Given the description of an element on the screen output the (x, y) to click on. 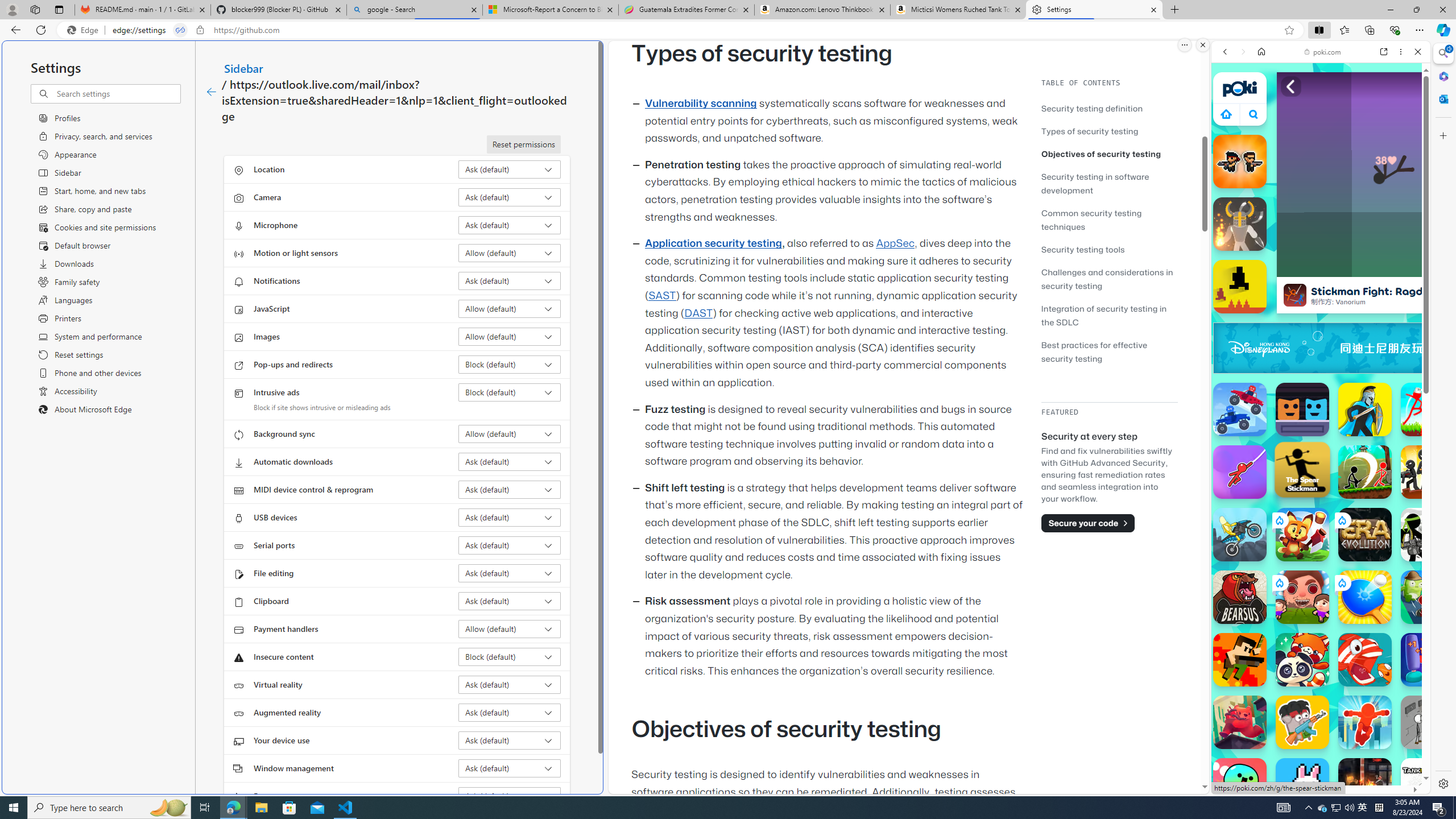
Virtual reality Ask (default) (509, 684)
Hills of Steel (1264, 523)
Show More Two Player Games (1390, 323)
Shady Bears (1239, 722)
Earth's Greatest Defender Earth's Greatest Defender (1239, 659)
Secure your code (1088, 522)
Preferences (1403, 129)
Search Filter, WEB (1230, 129)
Joyrider (1239, 534)
Motion or light sensors Allow (default) (509, 253)
